Given the description of an element on the screen output the (x, y) to click on. 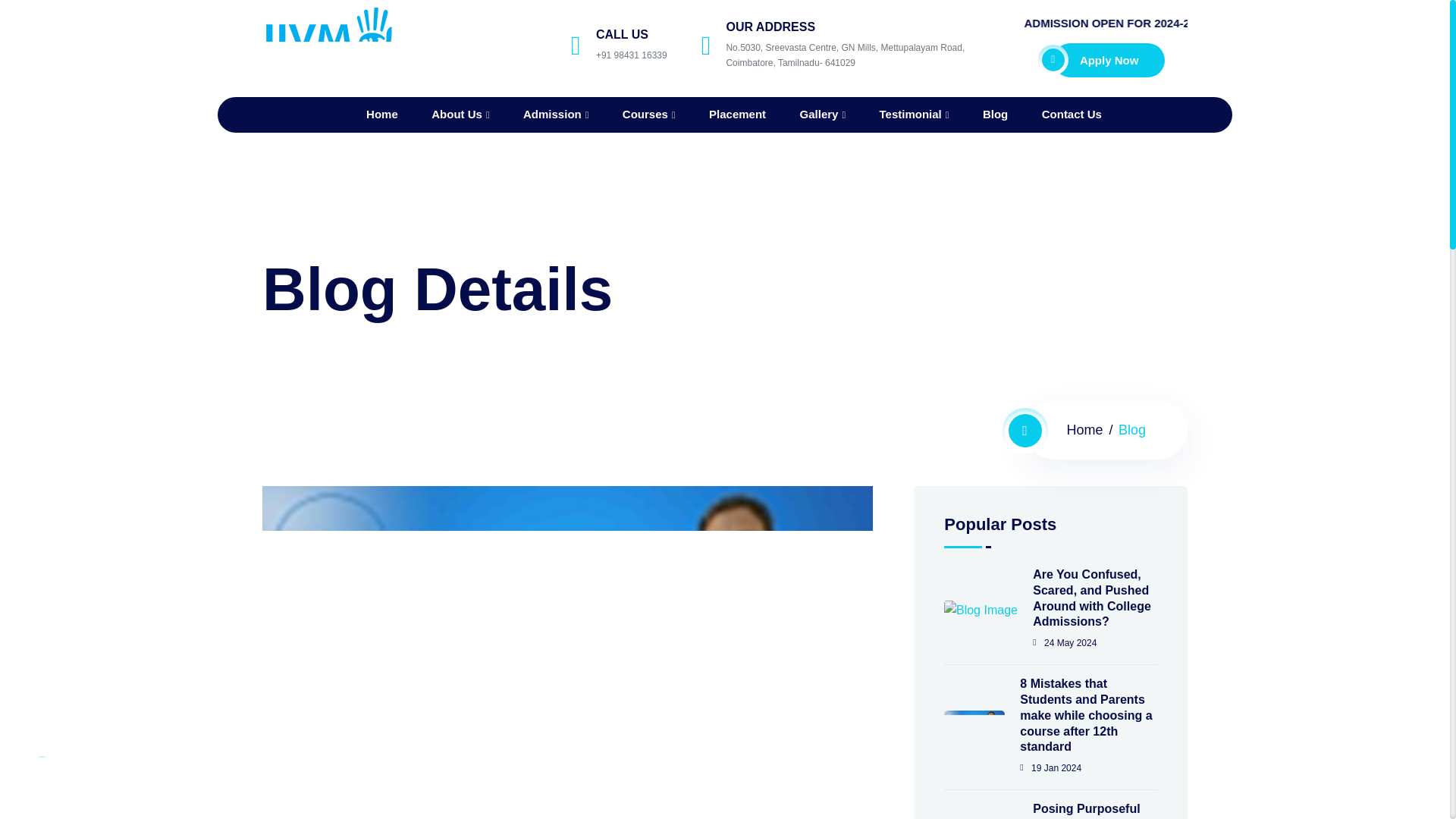
Home (381, 114)
About Us (459, 114)
Admission (555, 114)
Apply Now (1109, 59)
